Given the description of an element on the screen output the (x, y) to click on. 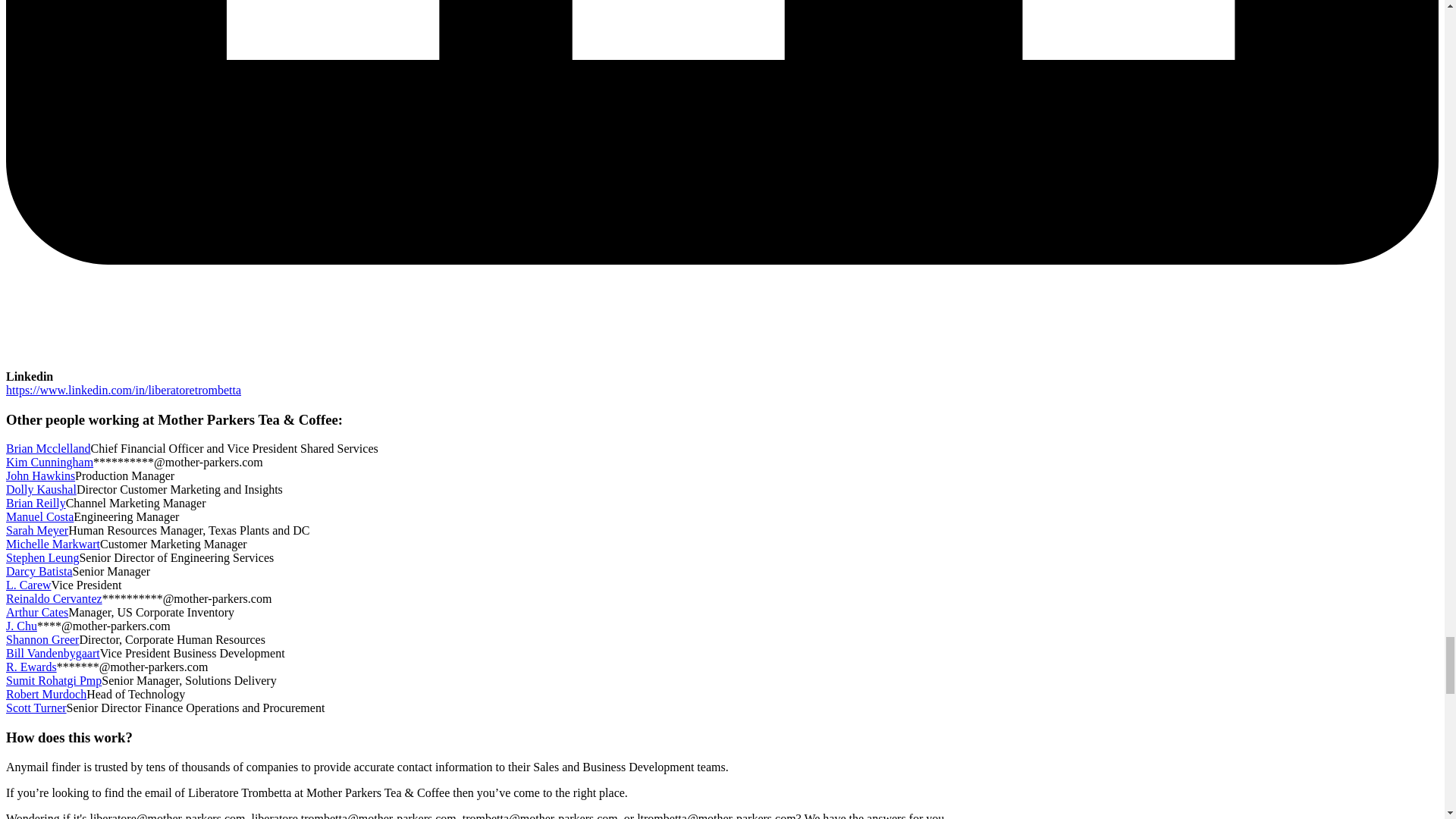
Reinaldo Cervantez (53, 598)
Michelle Markwart (52, 543)
J. Chu (21, 625)
Brian Mcclelland (47, 448)
Brian Reilly (35, 502)
Scott Turner (35, 707)
Bill Vandenbygaart (52, 653)
John Hawkins (40, 475)
Sarah Meyer (36, 530)
Arthur Cates (36, 612)
Sumit Rohatgi Pmp (53, 680)
Shannon Greer (41, 639)
Robert Murdoch (45, 694)
Darcy Batista (38, 571)
Kim Cunningham (49, 461)
